Given the description of an element on the screen output the (x, y) to click on. 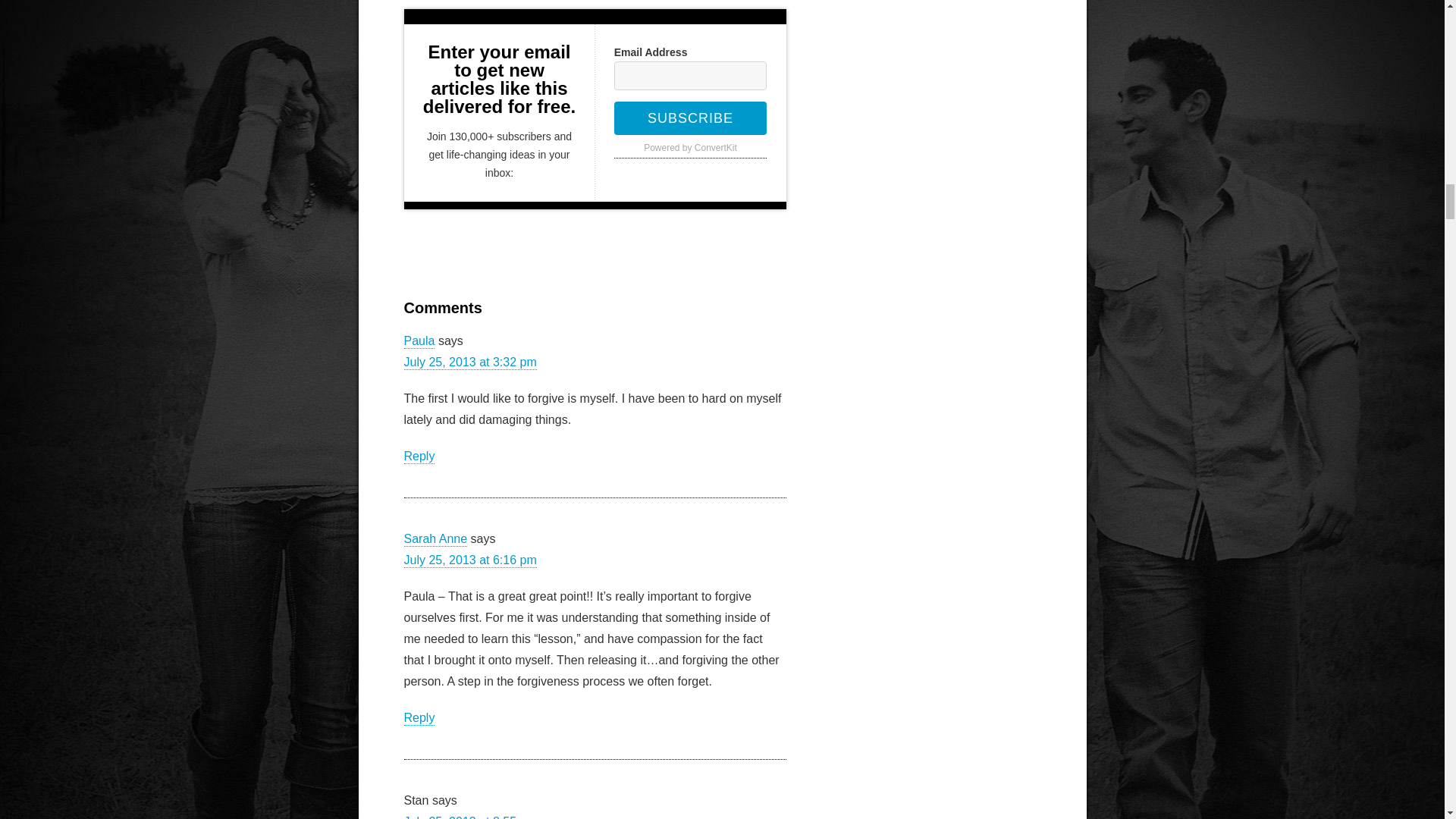
Reply (418, 456)
Paula (418, 341)
Powered by ConvertKit (690, 148)
July 25, 2013 at 8:55 pm (469, 816)
July 25, 2013 at 3:32 pm (469, 362)
July 25, 2013 at 6:16 pm (469, 560)
Reply (418, 718)
Sarah Anne (435, 539)
SUBSCRIBE (690, 118)
